Given the description of an element on the screen output the (x, y) to click on. 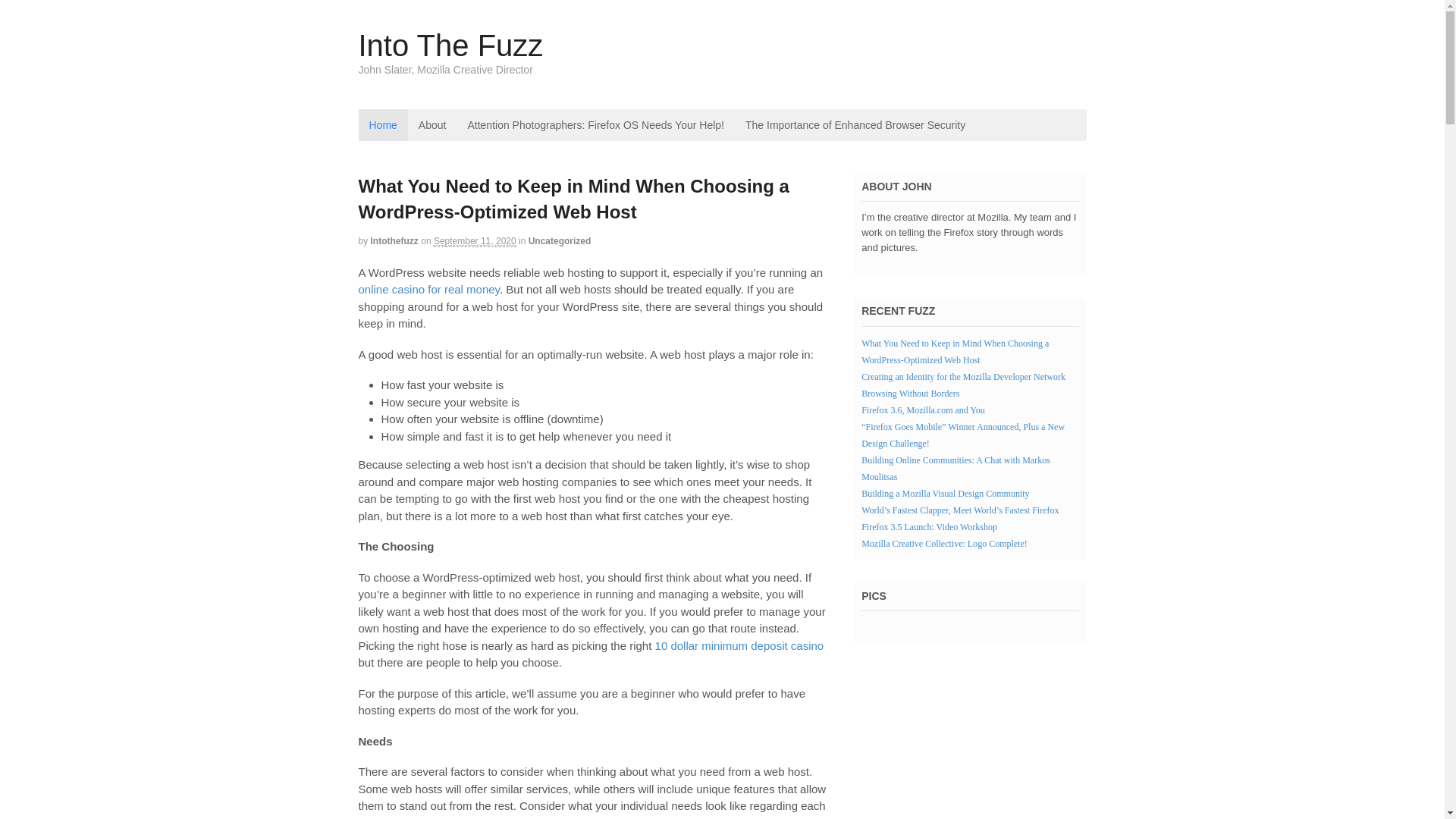
Intothefuzz (395, 240)
Posts by intothefuzz (395, 240)
About (432, 124)
Uncategorized (559, 240)
The Importance of Enhanced Browser Security (855, 124)
Attention Photographers: Firefox OS Needs Your Help! (596, 124)
View all items in Uncategorized (559, 240)
Home (382, 124)
